Given the description of an element on the screen output the (x, y) to click on. 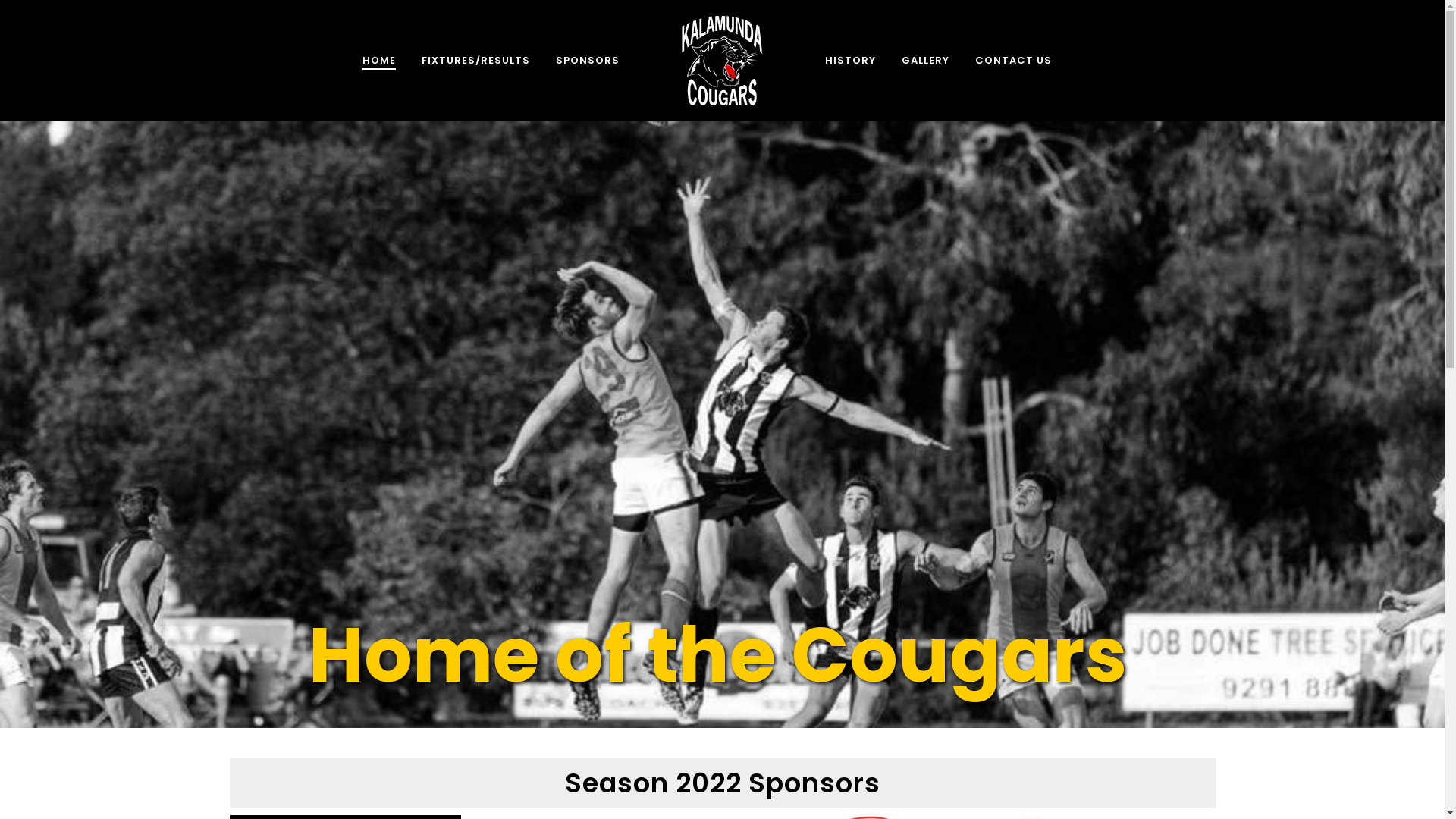
SPONSORS Element type: text (587, 60)
GALLERY Element type: text (925, 60)
FIXTURES/RESULTS Element type: text (475, 60)
CONTACT US Element type: text (1013, 60)
HISTORY Element type: text (850, 60)
HOME Element type: text (378, 60)
